Given the description of an element on the screen output the (x, y) to click on. 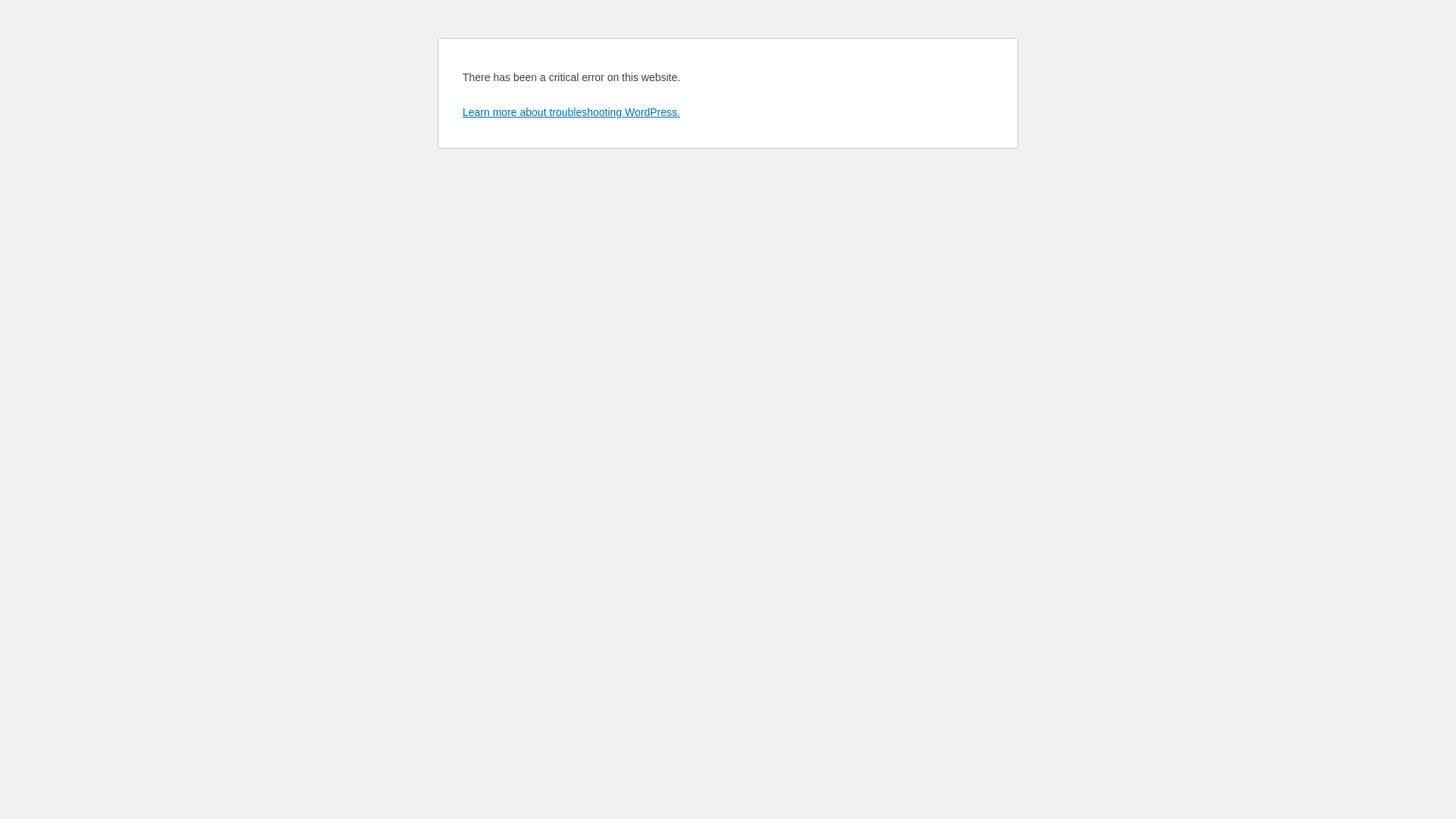
Learn more about troubleshooting WordPress. Element type: text (571, 112)
